Given the description of an element on the screen output the (x, y) to click on. 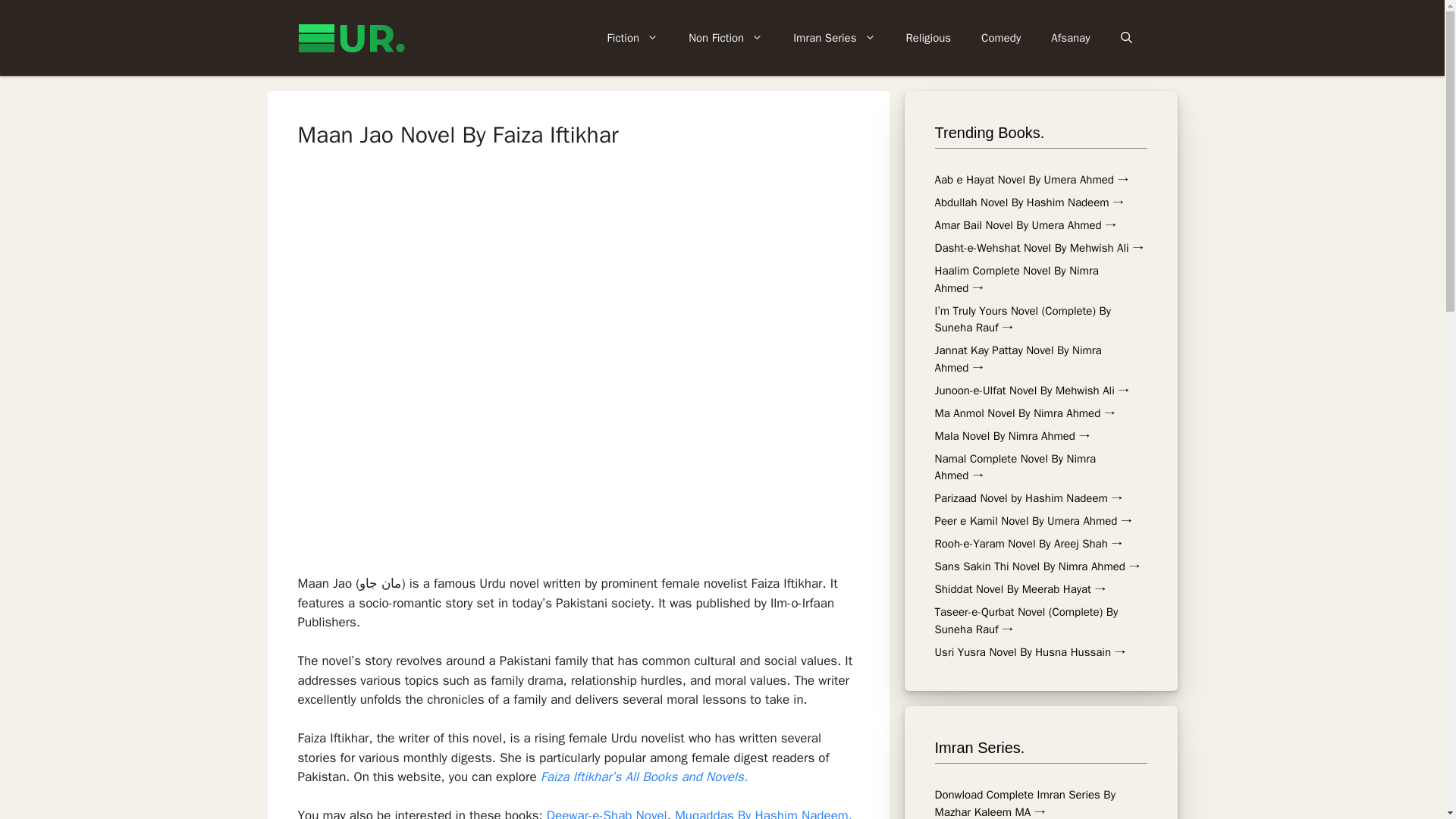
Afsanay (1070, 37)
Imran Series (833, 37)
Non Fiction (724, 37)
Fiction (633, 37)
Religious (927, 37)
Comedy (1000, 37)
